Given the description of an element on the screen output the (x, y) to click on. 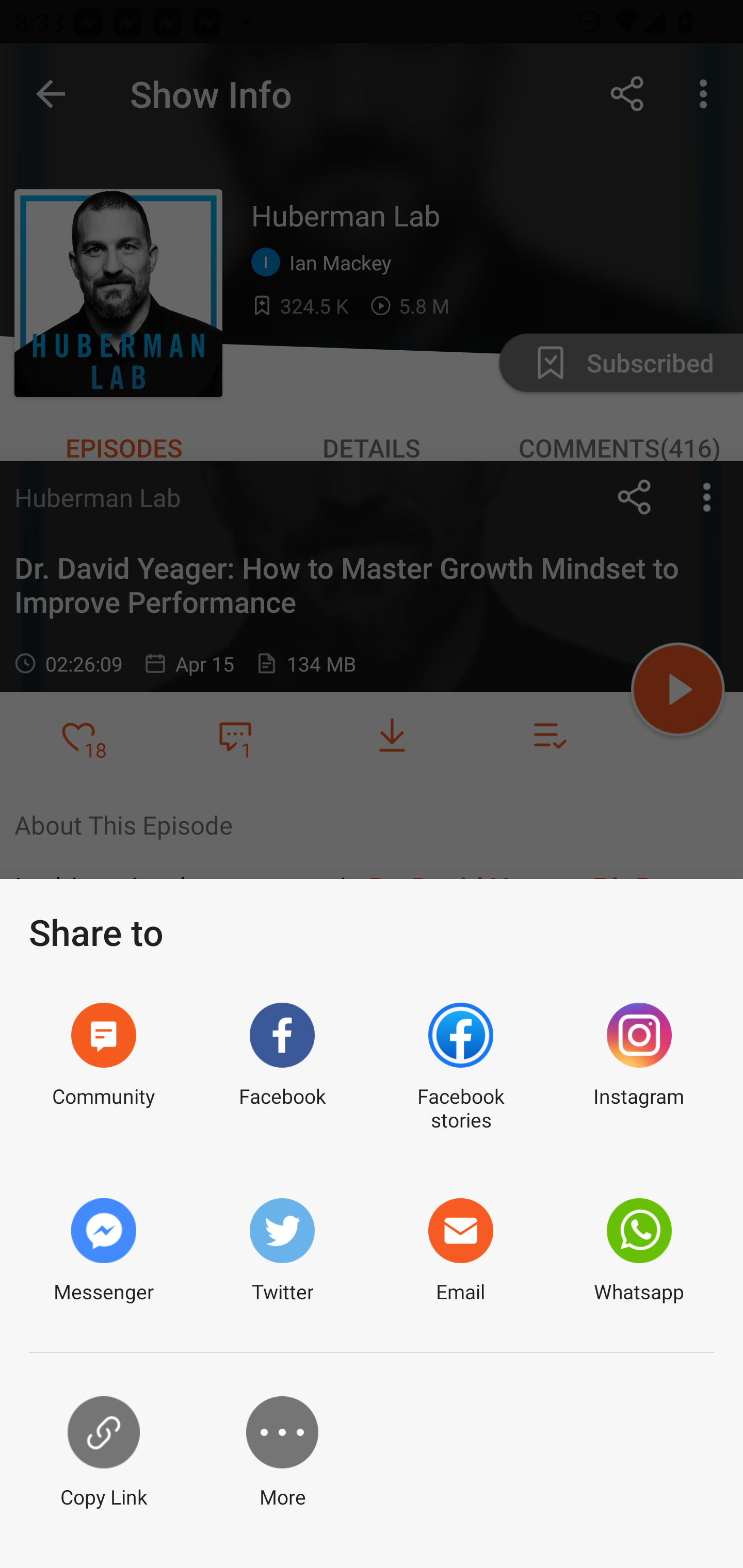
Community (103, 1067)
Facebook (282, 1067)
Facebook stories (460, 1067)
Instagram (638, 1067)
Messenger (103, 1251)
Twitter (282, 1251)
Email (460, 1251)
Whatsapp (638, 1251)
Copy Link (103, 1453)
More (282, 1453)
